Given the description of an element on the screen output the (x, y) to click on. 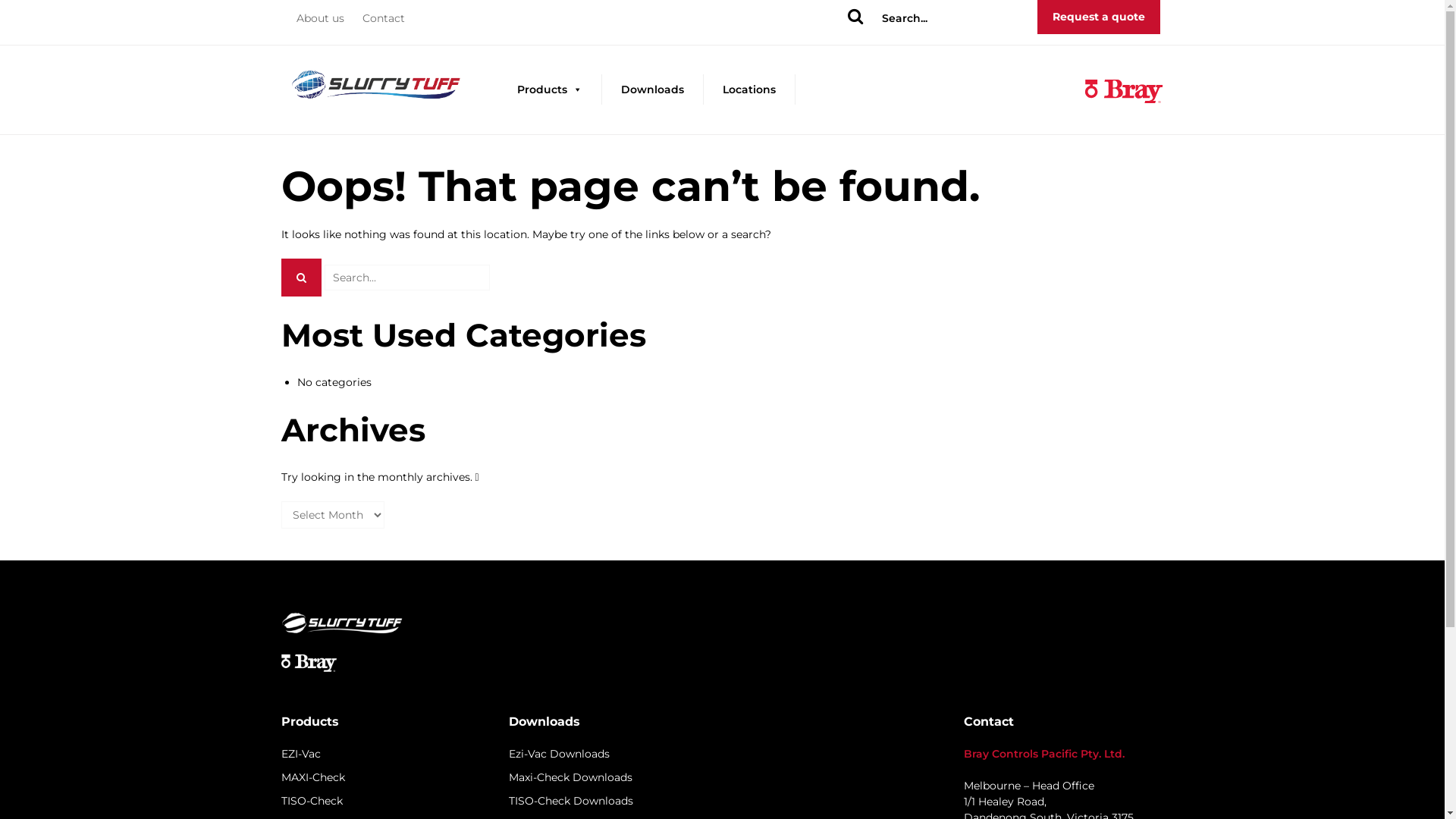
EZI-Vac Element type: text (300, 753)
Contact Element type: text (383, 18)
TISO-Check Element type: text (311, 800)
Ezi-Vac Downloads Element type: text (558, 753)
Request a quote Element type: text (1098, 17)
Products Element type: text (548, 89)
Locations Element type: text (748, 89)
About us Element type: text (319, 18)
MAXI-Check Element type: text (312, 777)
Downloads Element type: text (652, 89)
TISO-Check Downloads Element type: text (570, 800)
Maxi-Check Downloads Element type: text (569, 777)
